Given the description of an element on the screen output the (x, y) to click on. 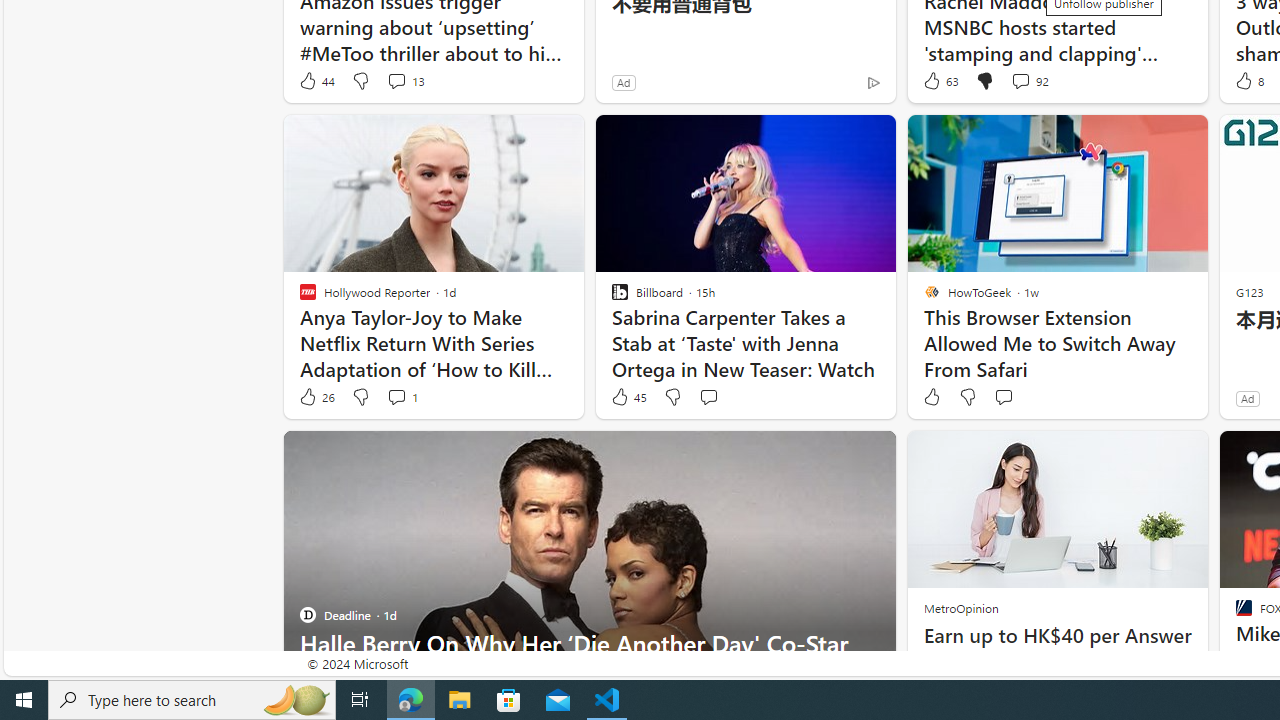
Ad Choice (873, 82)
Earn up to HK$40 per Answer (1056, 636)
View comments 1 Comment (396, 396)
View comments 1 Comment (401, 397)
Like (930, 397)
MetroOpinion (960, 607)
Ad (1247, 398)
